Given the description of an element on the screen output the (x, y) to click on. 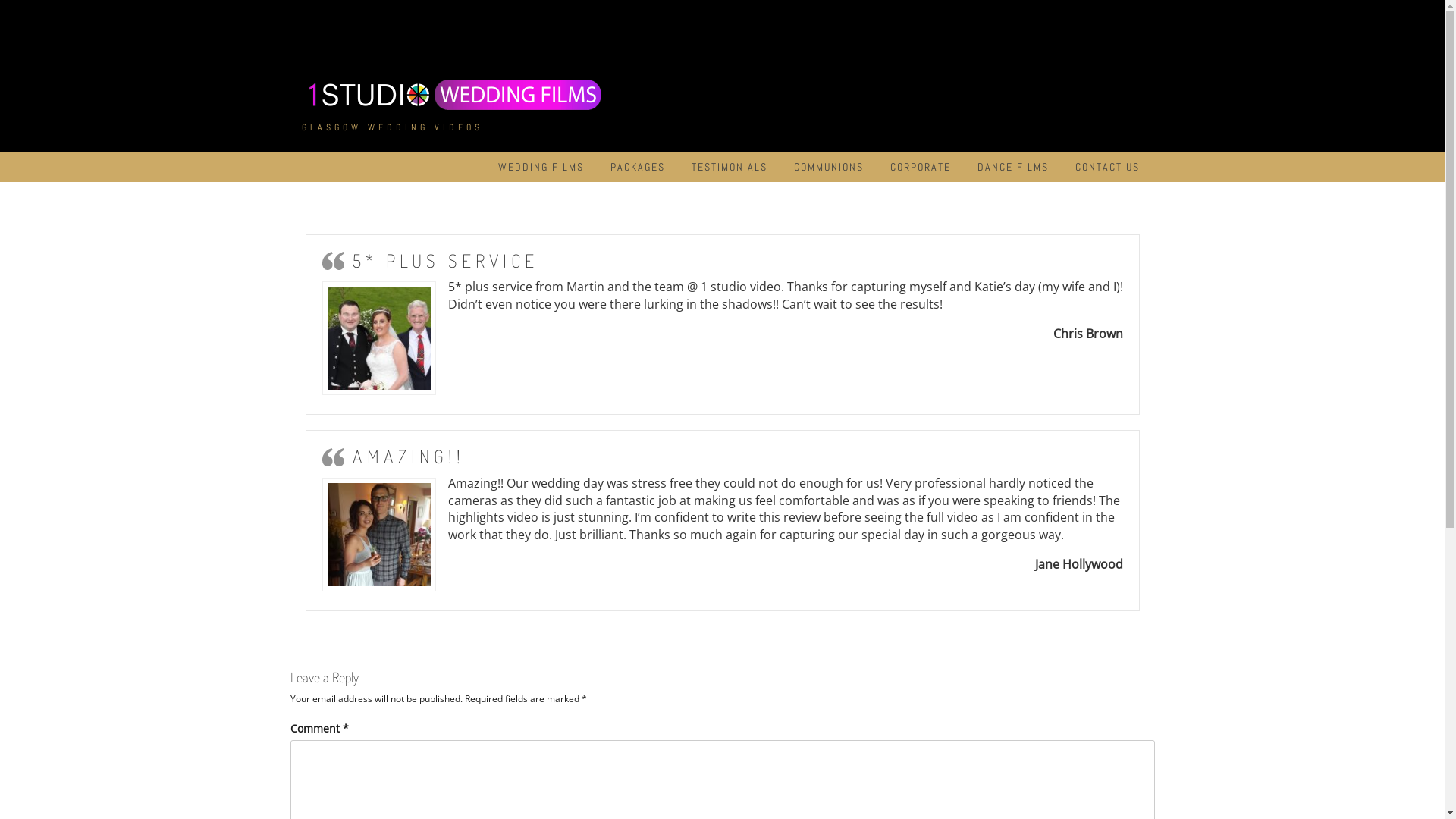
CONTACT US Element type: text (1107, 166)
CORPORATE Element type: text (920, 166)
PACKAGES Element type: text (636, 166)
TESTIMONIALS Element type: text (729, 166)
COMMUNIONS Element type: text (827, 166)
WEDDING FILMS Element type: text (540, 166)
DANCE FILMS Element type: text (1012, 166)
